Given the description of an element on the screen output the (x, y) to click on. 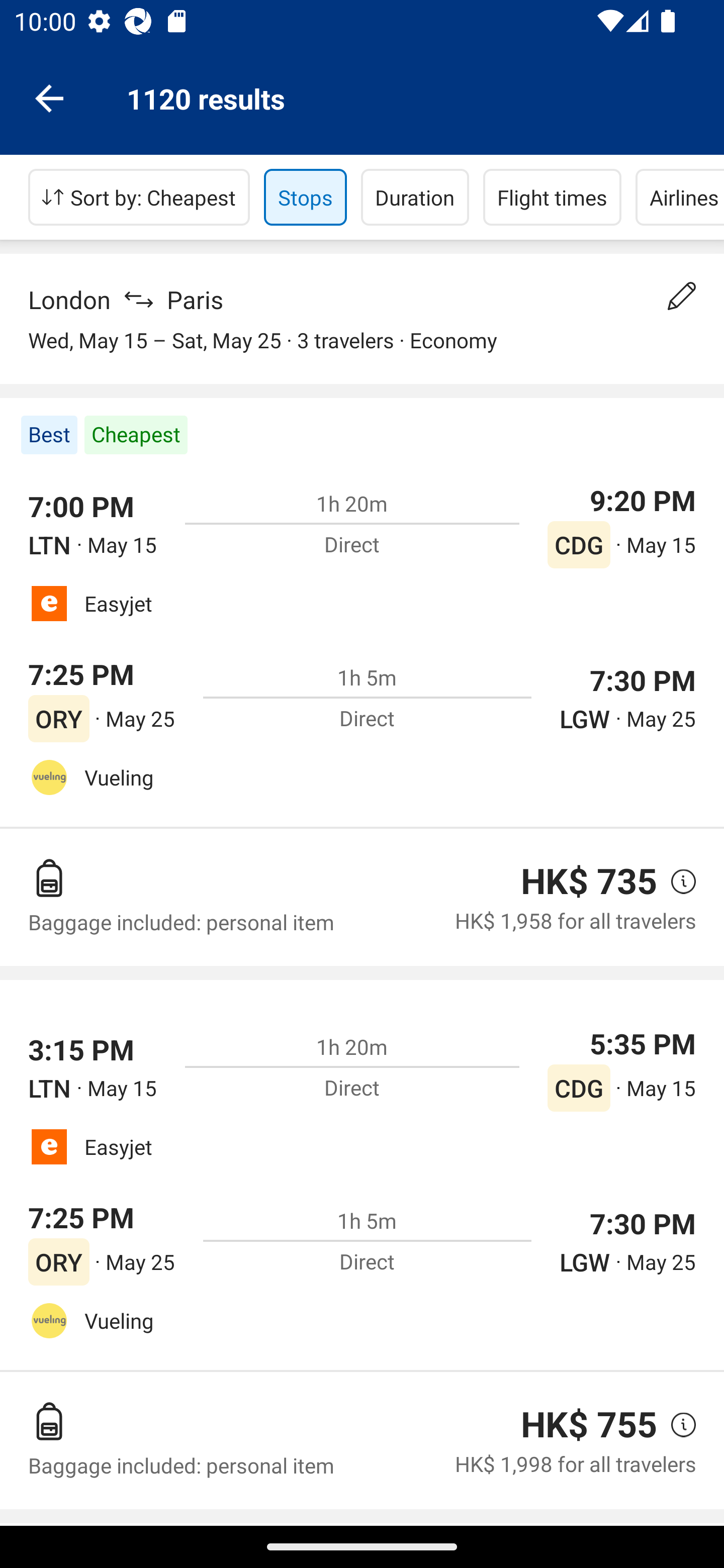
Navigate up (49, 97)
Sort by: Cheapest (138, 197)
Stops (305, 197)
Duration (415, 197)
Flight times (551, 197)
Airlines (679, 197)
Change your search details (681, 296)
HK$ 735 (588, 881)
view price details, opens a pop-up (676, 881)
HK$ 755 (588, 1424)
view price details, opens a pop-up (676, 1424)
